Given the description of an element on the screen output the (x, y) to click on. 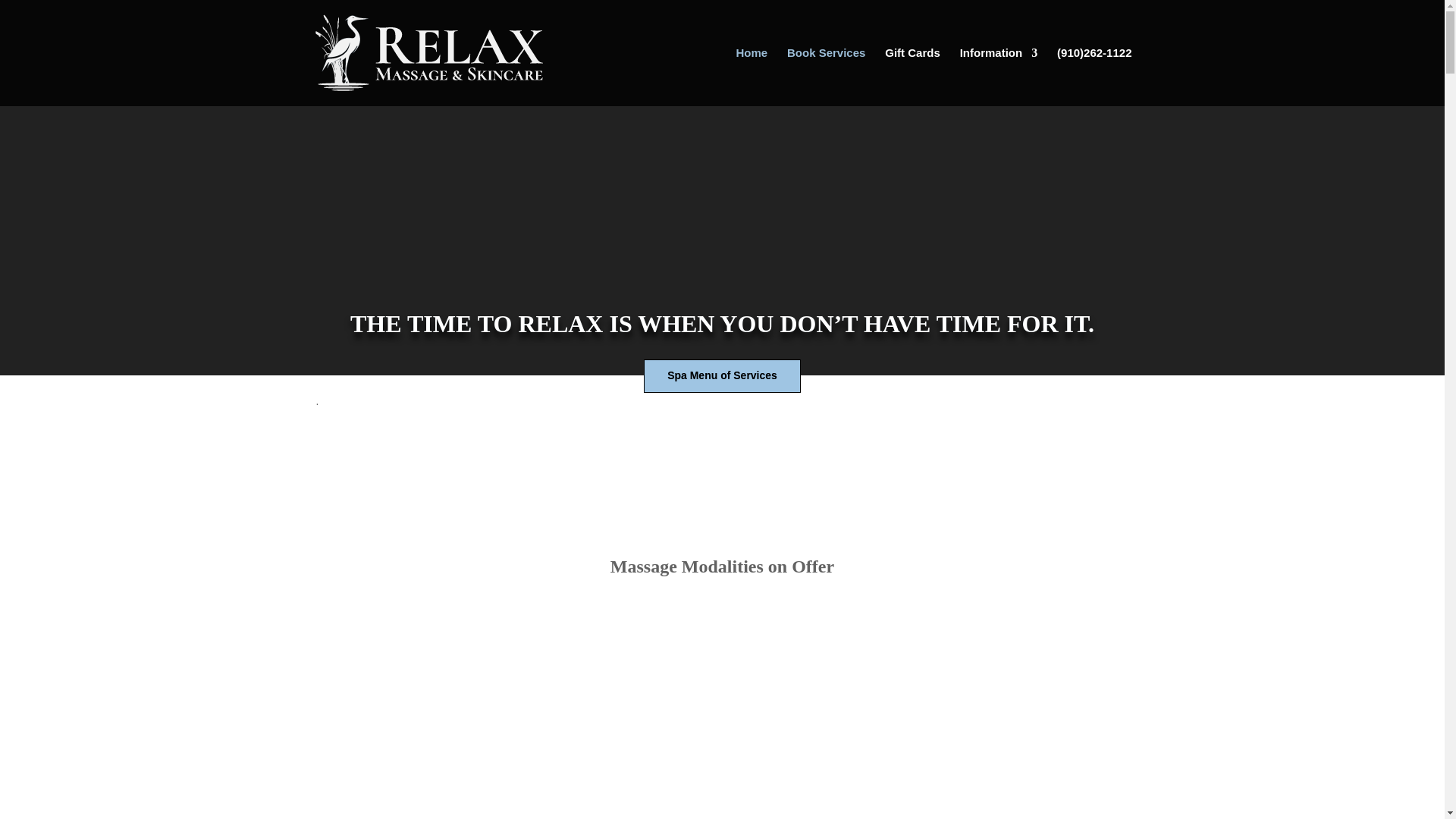
Gift Cards (912, 76)
Book Services (825, 76)
Information (998, 76)
Spa Menu of Services (721, 376)
